Given the description of an element on the screen output the (x, y) to click on. 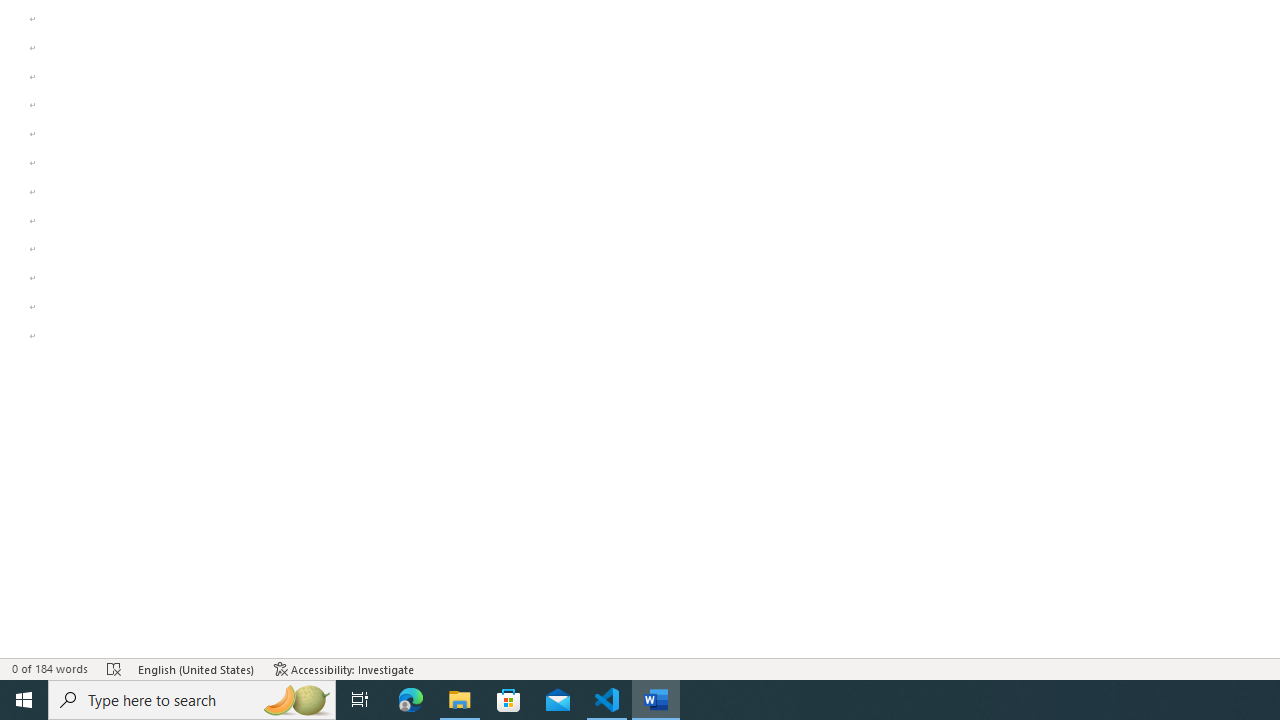
Word Count 0 of 184 words (49, 668)
